Given the description of an element on the screen output the (x, y) to click on. 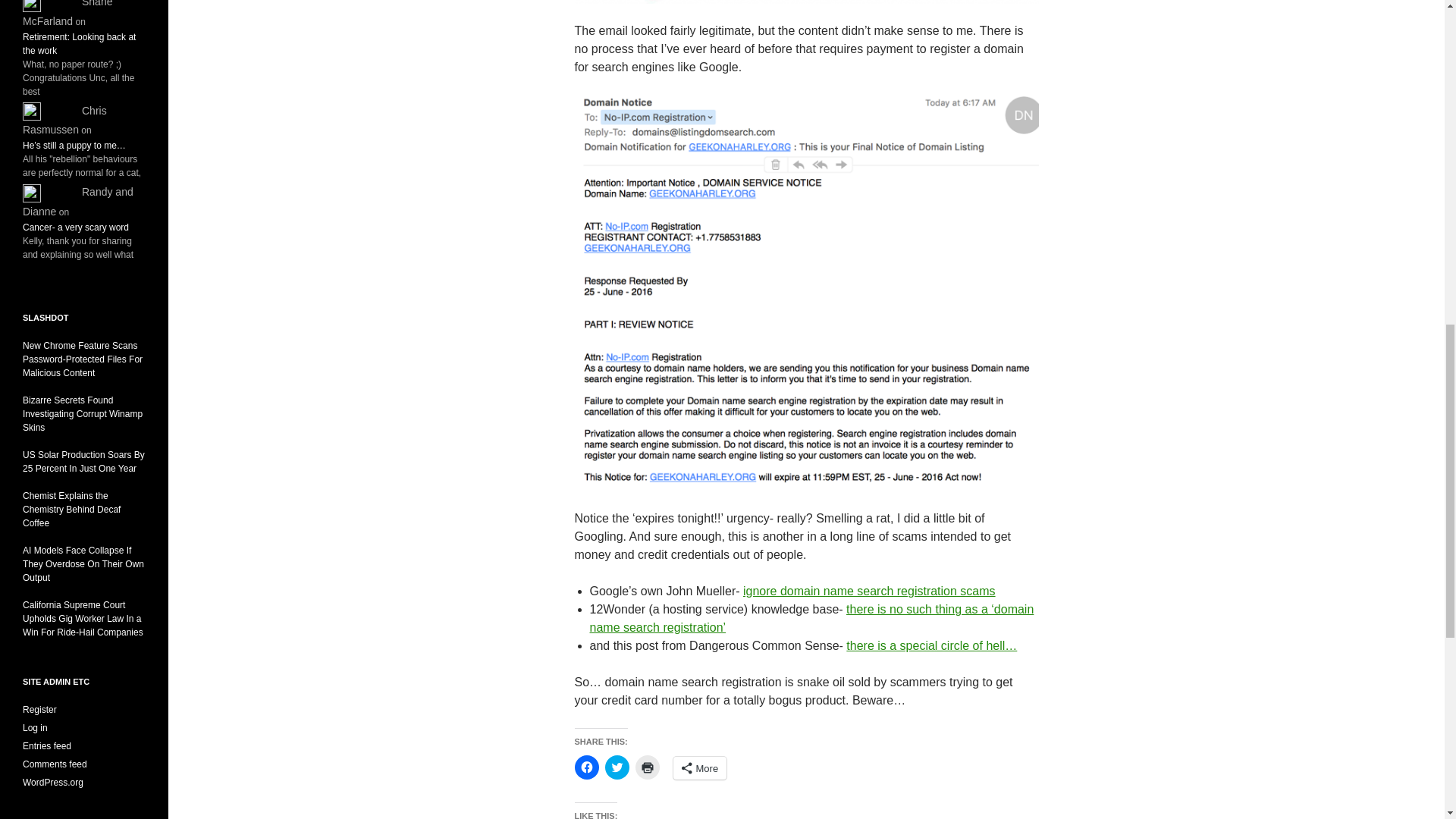
Dangerous Common Sense (930, 645)
Click to share on Twitter (616, 767)
12Wonder knowledgebase (811, 617)
Click to print (646, 767)
Click to share on Facebook (586, 767)
